Given the description of an element on the screen output the (x, y) to click on. 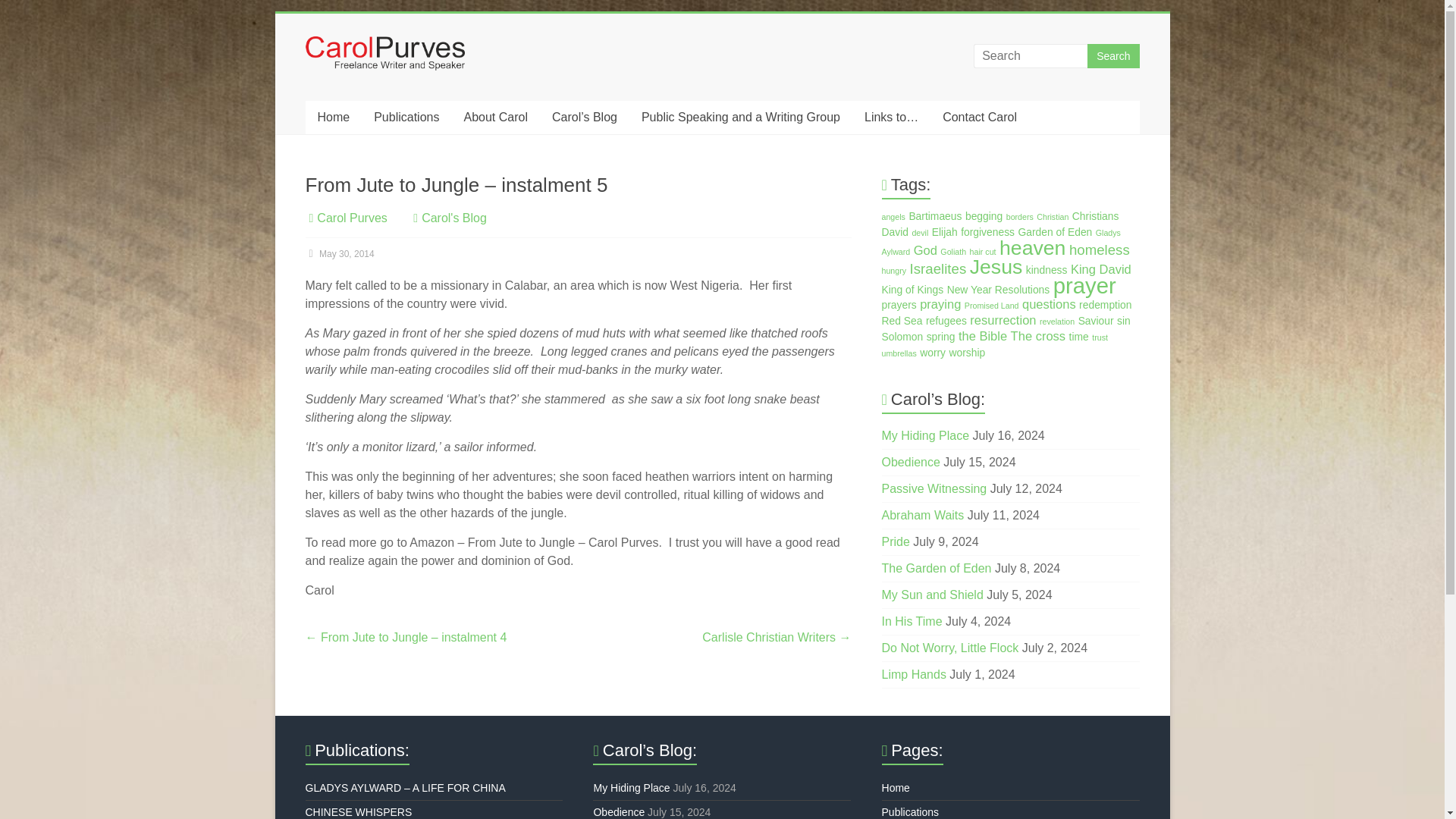
Home (332, 117)
Carol Purves (347, 70)
angels (893, 216)
Israelites (938, 268)
Garden of Eden (1054, 232)
homeless (1098, 249)
Search (1112, 55)
Elijah (944, 232)
King David (1100, 269)
May 30, 2014 (339, 253)
Carol's Blog (454, 217)
borders (1019, 216)
hair cut (982, 251)
devil (919, 232)
New Year Resolutions (998, 289)
